Given the description of an element on the screen output the (x, y) to click on. 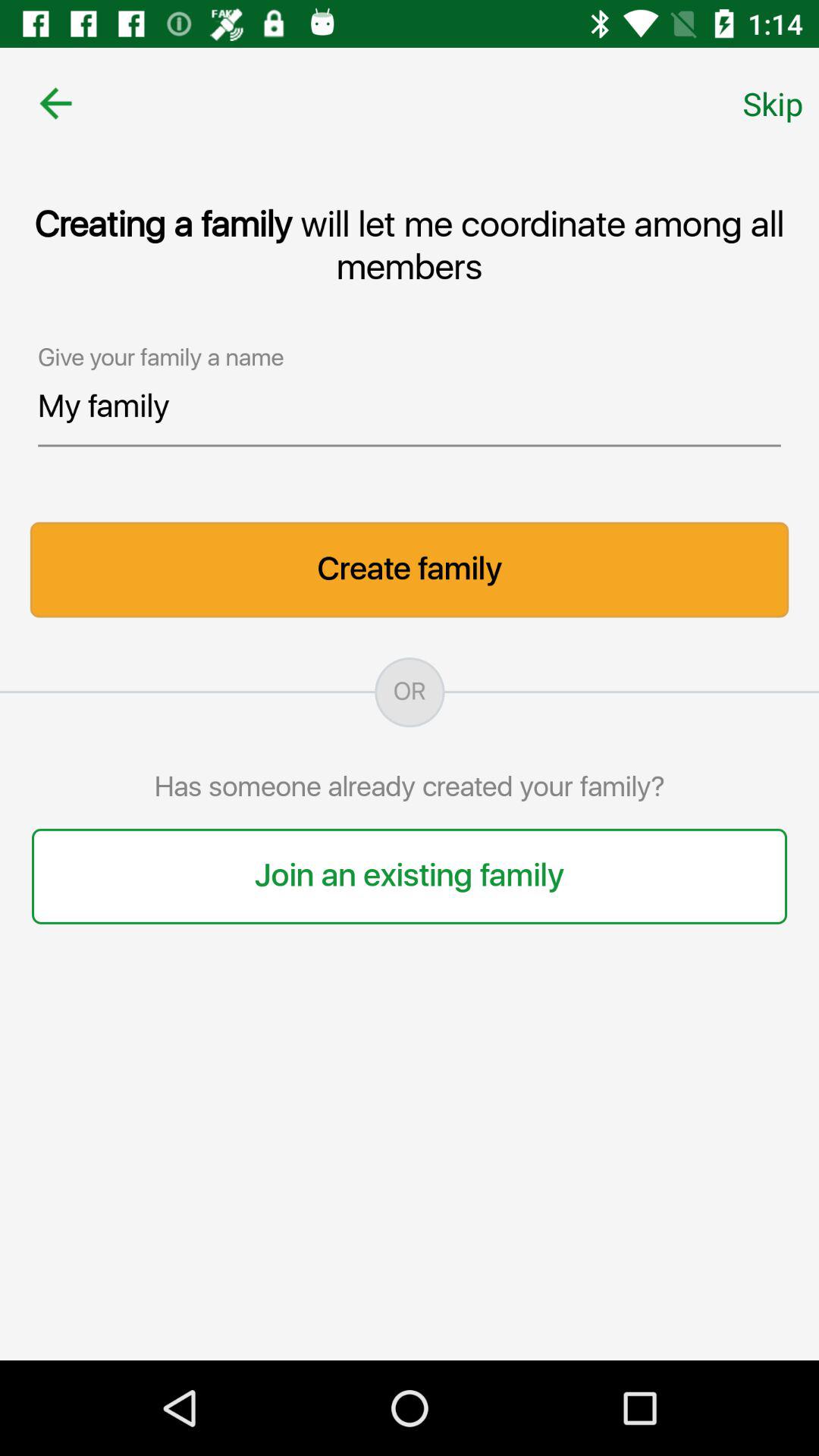
click item at the top left corner (55, 103)
